Given the description of an element on the screen output the (x, y) to click on. 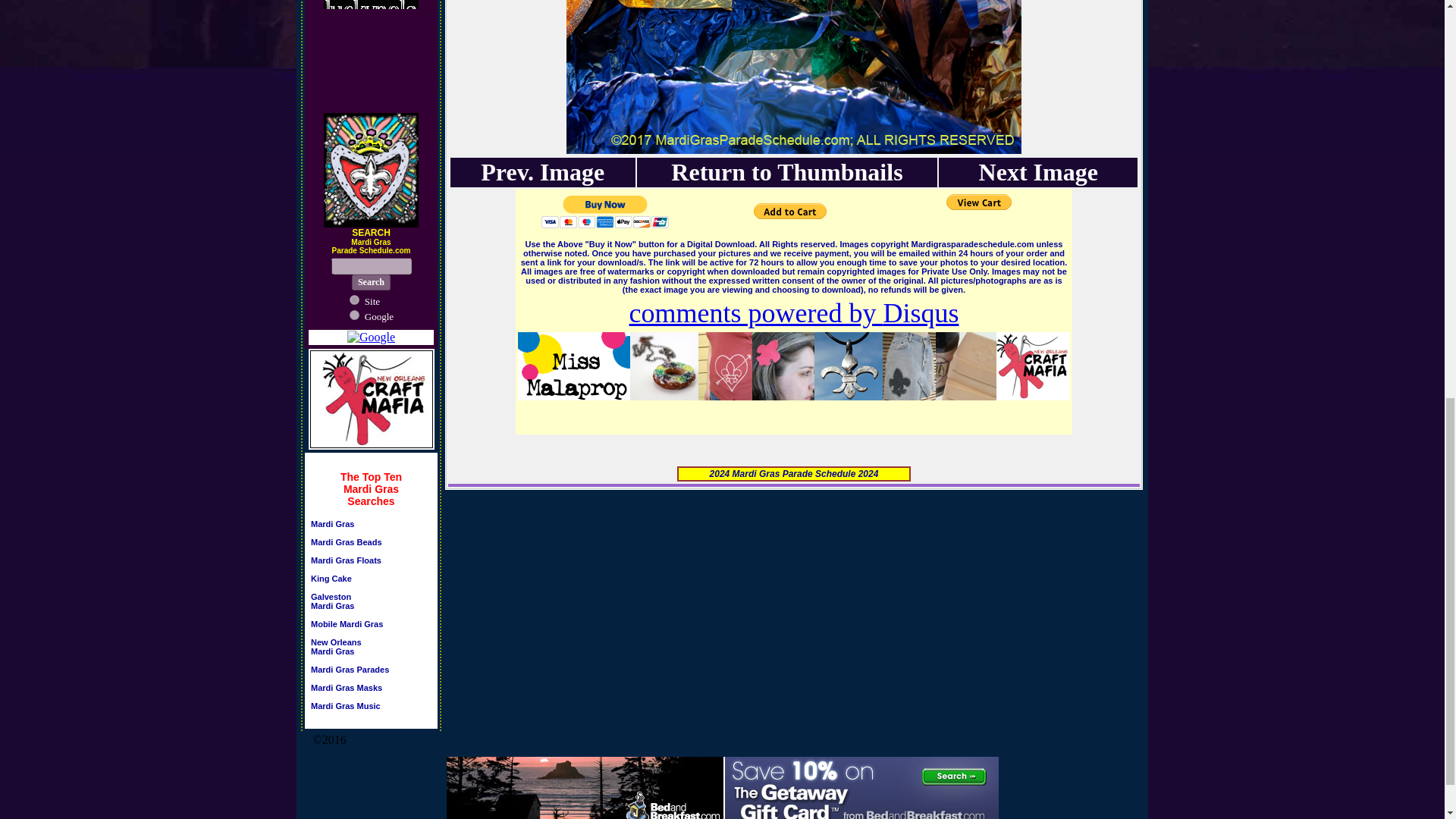
Search the Web (379, 315)
Mardi Gras Floats (336, 651)
Return to Thumbnails (346, 565)
Mobile Mardi Gras (786, 171)
www.mardigrasparadeschedule.com (346, 628)
Search (354, 299)
Search (371, 282)
Mardi Gras Music (371, 282)
King Cake (345, 705)
Mardi Gras (331, 583)
Mardi Gras Parades (332, 605)
Mardi Gras Masks (332, 523)
